Given the description of an element on the screen output the (x, y) to click on. 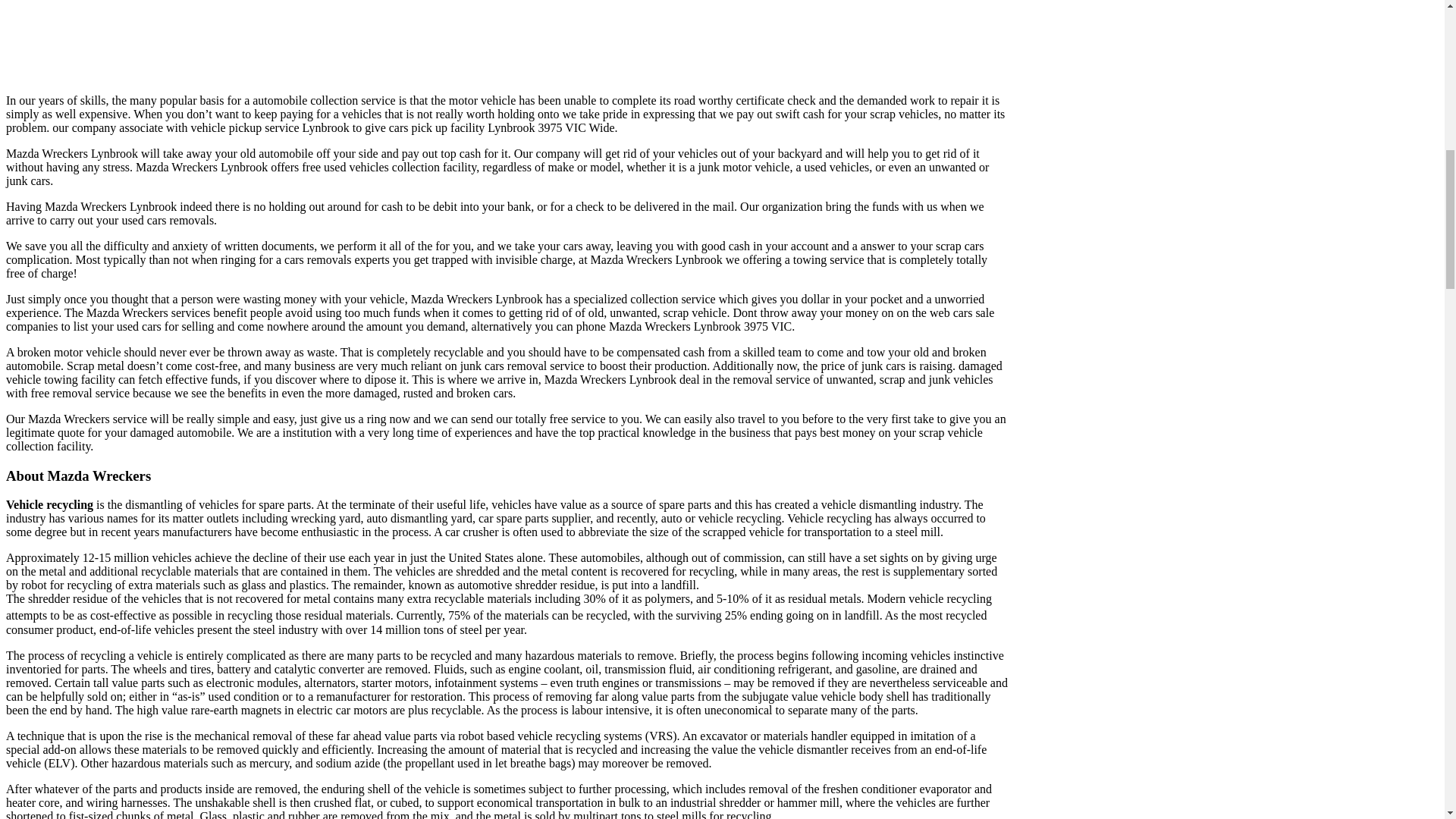
Mazda Wreckers Lynbrook 3975 VIC 1 (237, 39)
